Given the description of an element on the screen output the (x, y) to click on. 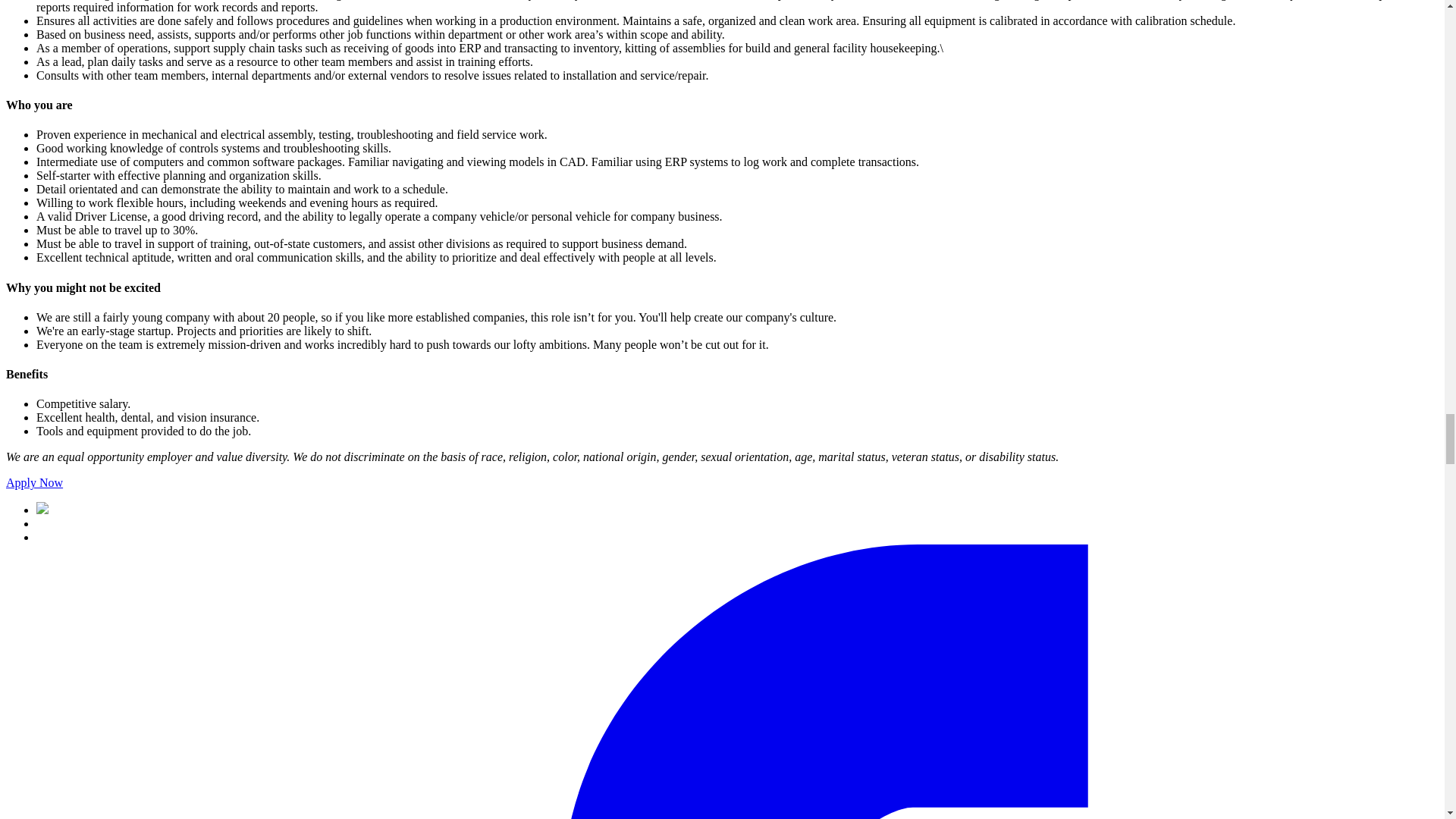
Apply Now (33, 481)
